Given the description of an element on the screen output the (x, y) to click on. 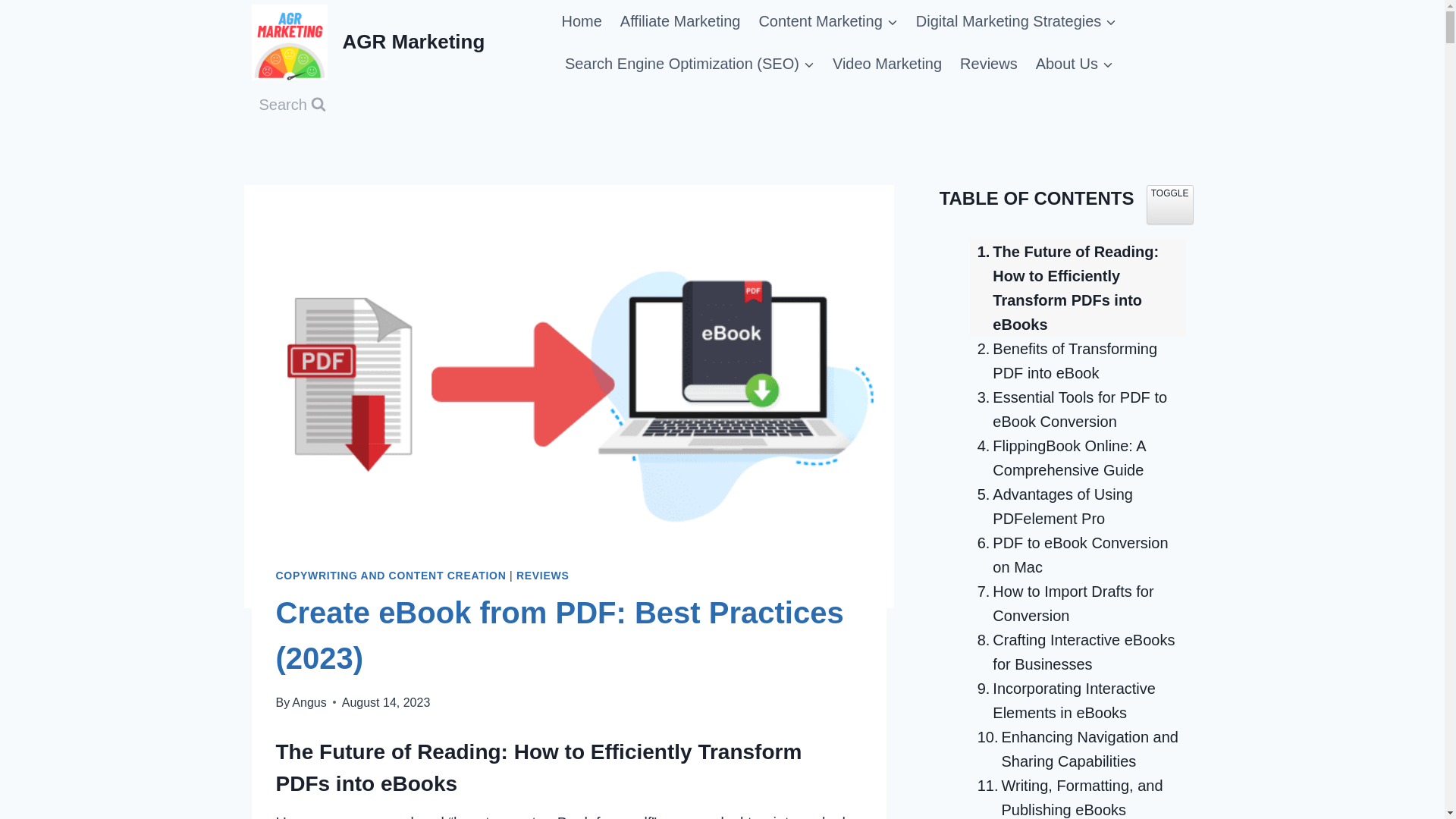
FlippingBook Online: A Comprehensive Guide (1077, 458)
Home (580, 21)
Crafting Interactive eBooks for Businesses (1077, 652)
Reviews (988, 63)
Incorporating Interactive Elements in eBooks (1077, 700)
How to Import Drafts for Conversion (1077, 603)
Advantages of Using PDFelement Pro (1077, 506)
About Us (1074, 63)
Content Marketing (827, 21)
Benefits of Transforming PDF into eBook (1077, 360)
Enhancing Navigation and Sharing Capabilities (1077, 748)
Essential Tools for PDF to eBook Conversion (1077, 409)
COPYWRITING AND CONTENT CREATION (391, 575)
Writing, Formatting, and Publishing eBooks (1077, 796)
